Given the description of an element on the screen output the (x, y) to click on. 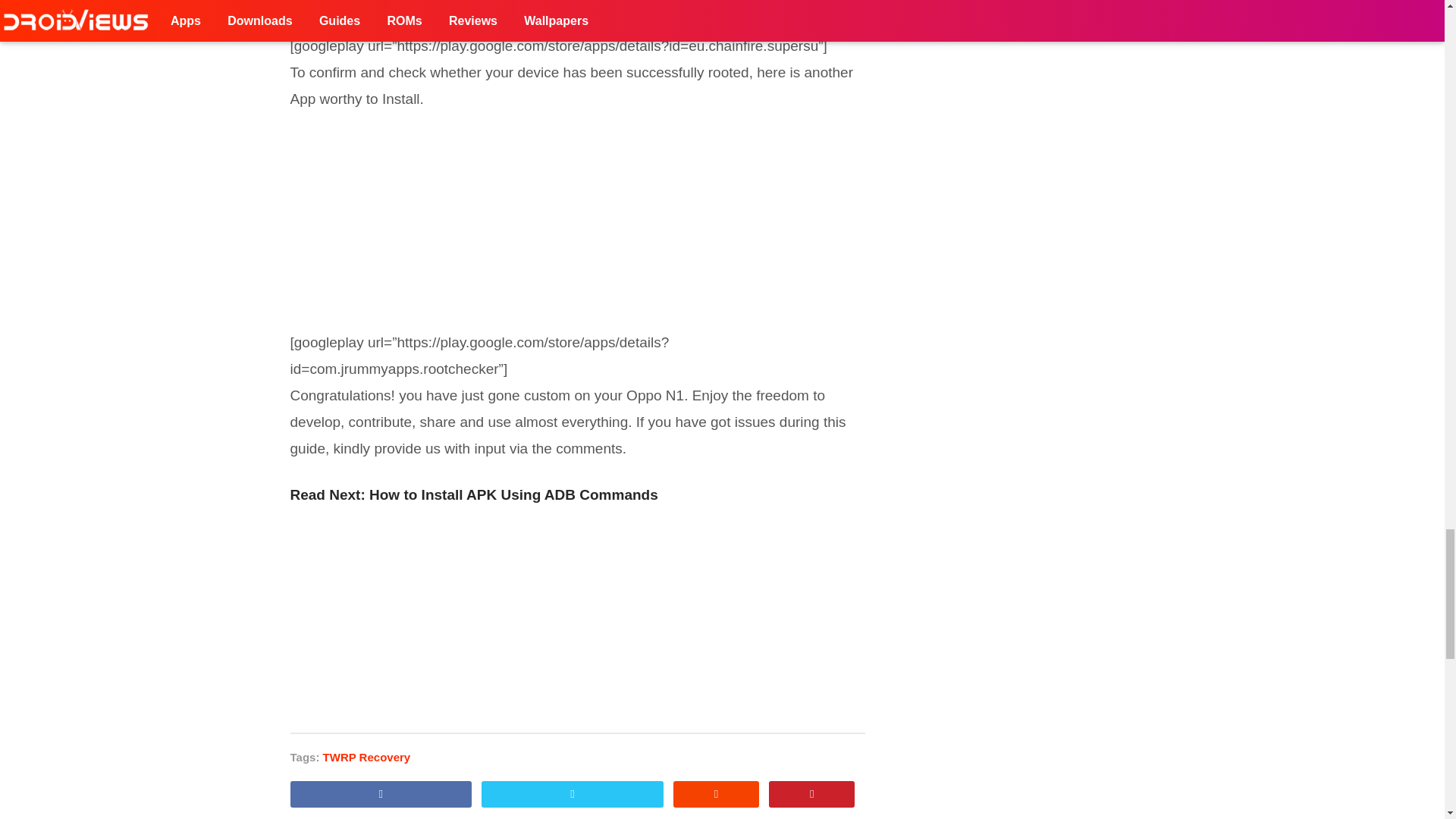
developer (518, 4)
XDA thread (384, 4)
TWRP Recovery (366, 757)
